Given the description of an element on the screen output the (x, y) to click on. 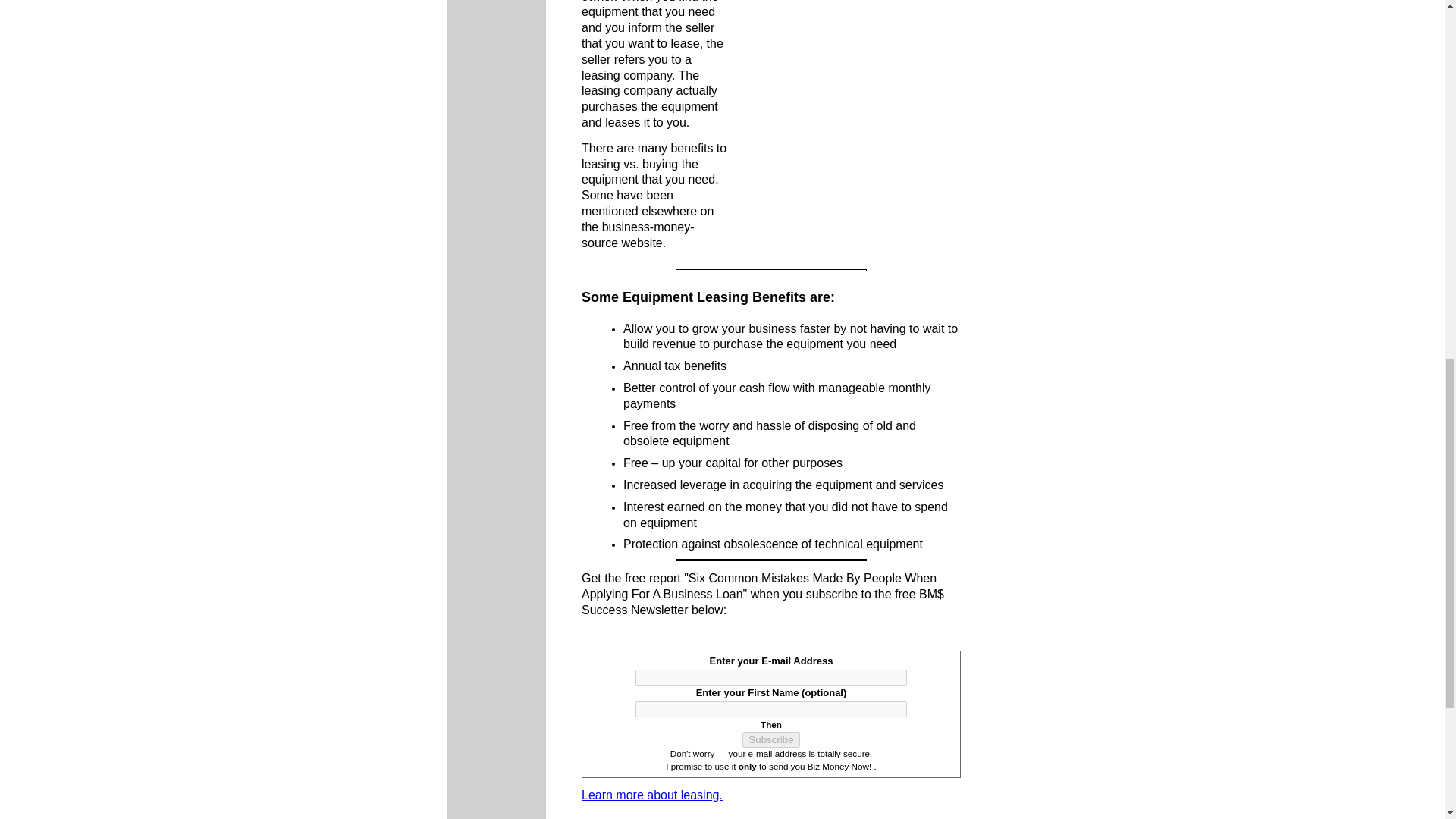
Advertisement (844, 158)
Learn more about leasing. (651, 795)
Subscribe (770, 739)
